Given the description of an element on the screen output the (x, y) to click on. 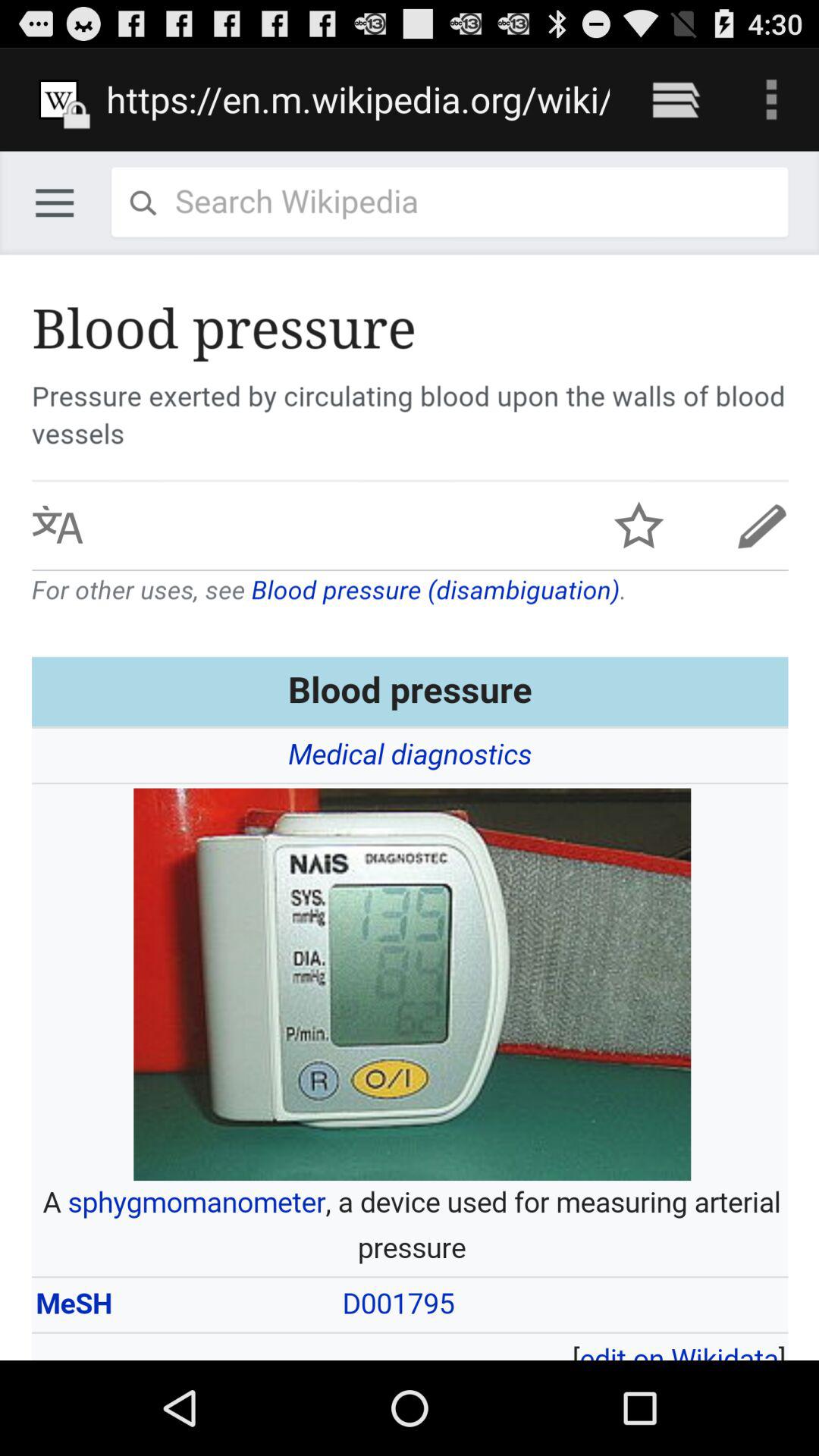
turn off the https en m item (357, 99)
